Given the description of an element on the screen output the (x, y) to click on. 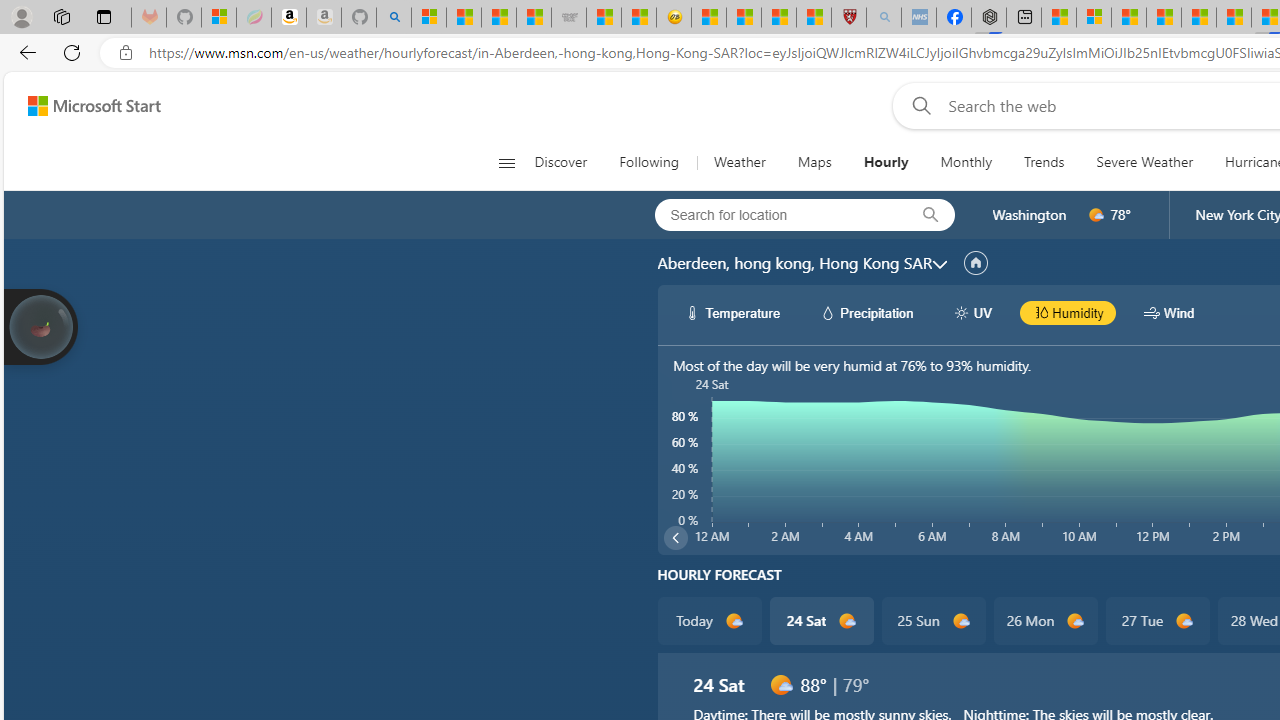
24 Sat d1000 (821, 620)
27 Tue d1000 (1156, 620)
d1000 (780, 684)
Trends (1044, 162)
